Given the description of an element on the screen output the (x, y) to click on. 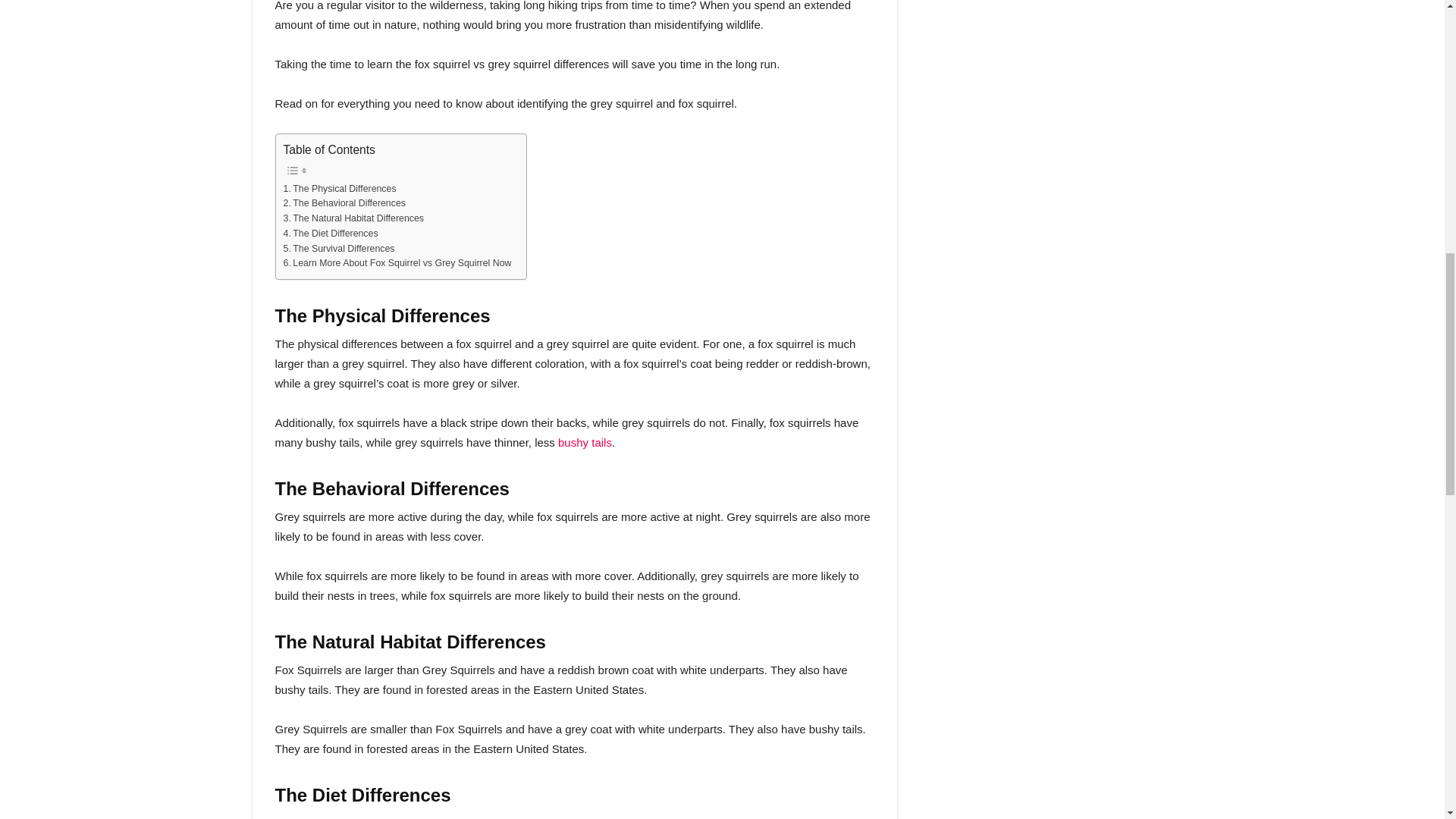
The Physical Differences (339, 189)
The Physical Differences (339, 189)
The Behavioral Differences (344, 203)
The Natural Habitat Differences (353, 218)
The Survival Differences  (340, 249)
The Natural Habitat Differences (353, 218)
Learn More About Fox Squirrel vs Grey Squirrel Now (397, 263)
The Behavioral Differences (344, 203)
The Diet Differences (330, 233)
The Diet Differences (330, 233)
bushy tails (584, 441)
